Given the description of an element on the screen output the (x, y) to click on. 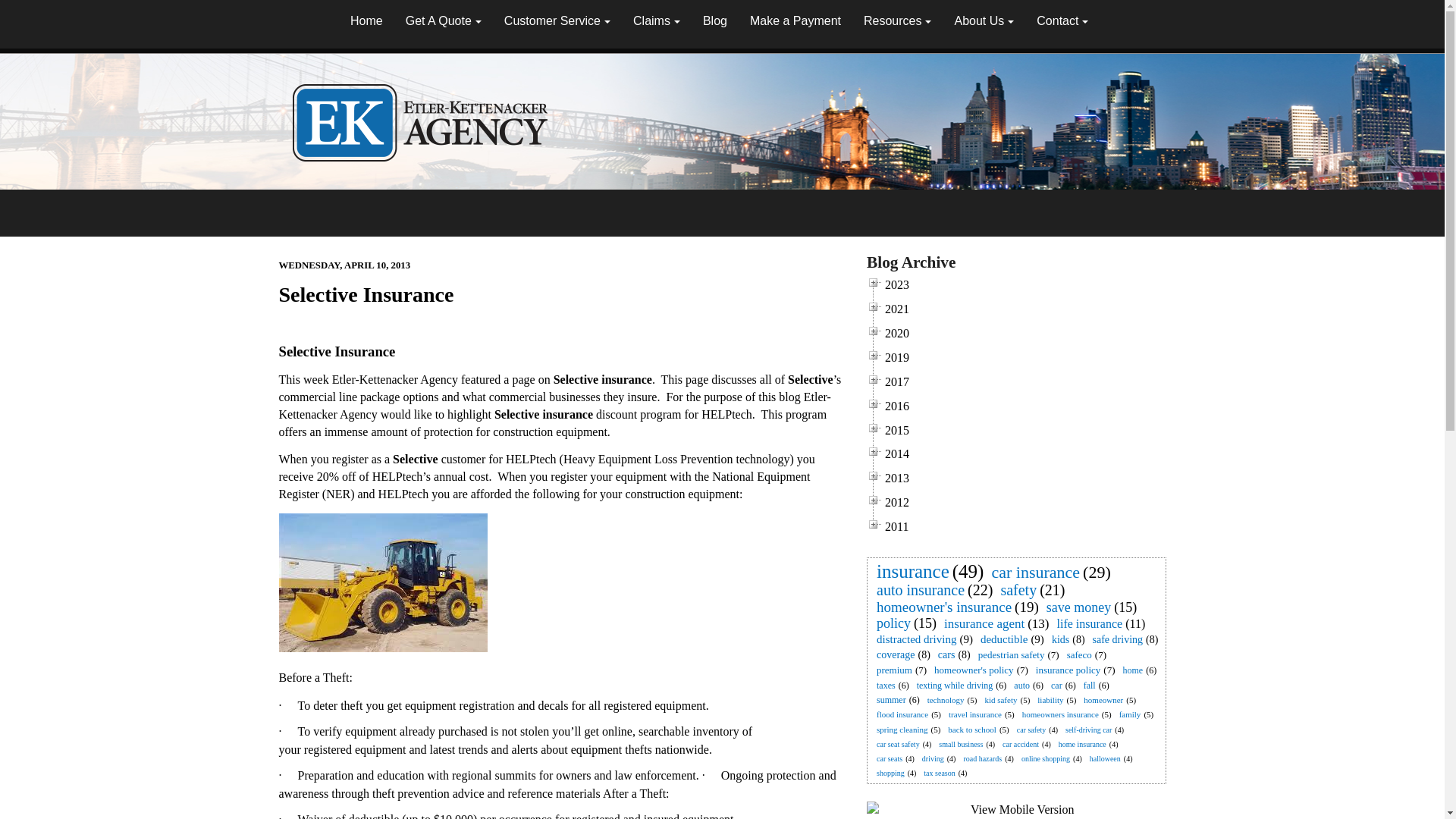
save money (1078, 607)
policy (893, 623)
safeco (1079, 654)
pedestrian safety (1011, 654)
insurance (912, 571)
Home (366, 22)
distracted driving (916, 639)
homeowner's insurance (943, 606)
insurance agent (983, 623)
safe driving (1117, 639)
premium (894, 669)
cars (946, 654)
coverage (895, 654)
safety (1018, 589)
Customer Service (557, 22)
